Given the description of an element on the screen output the (x, y) to click on. 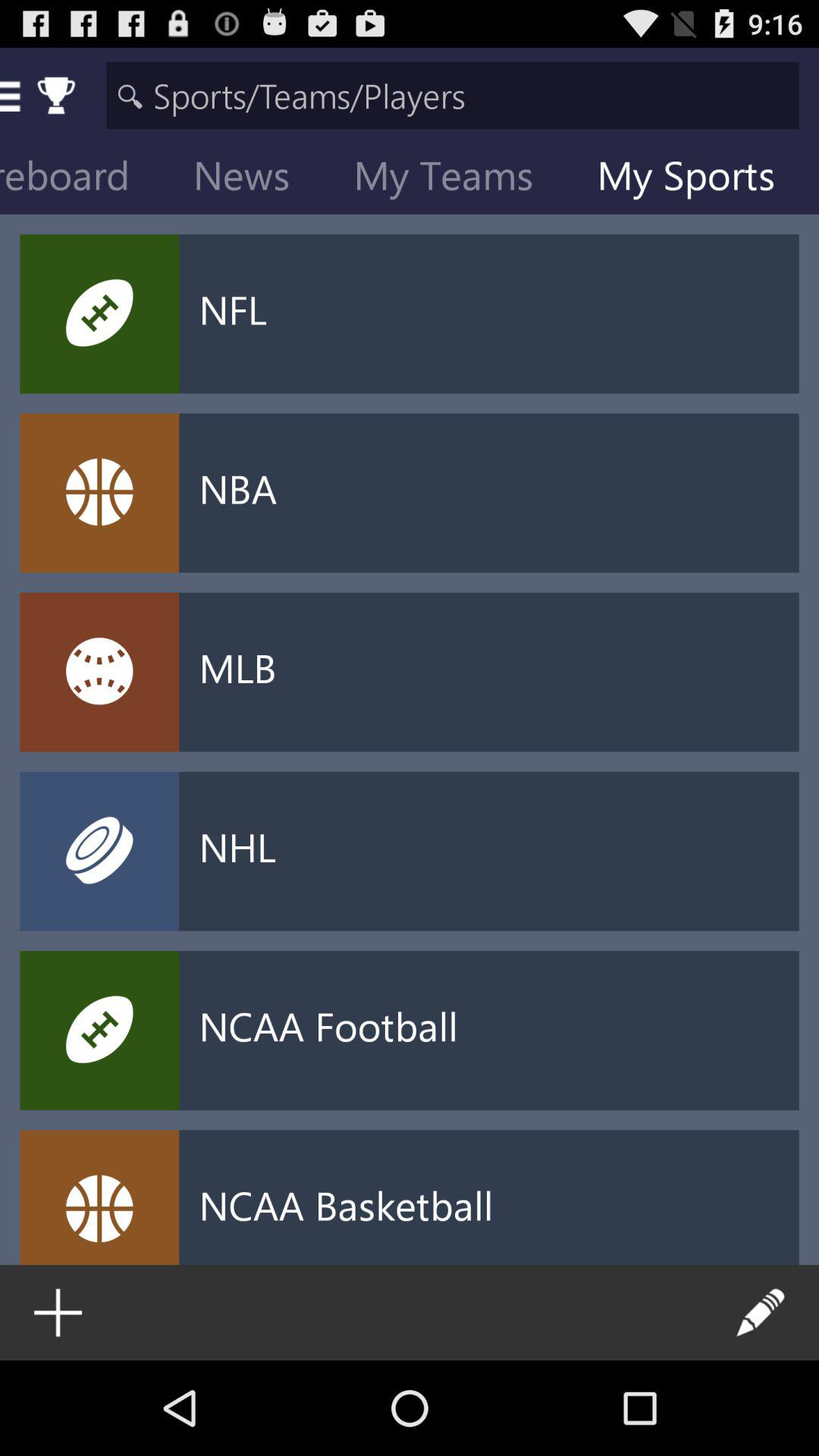
search the details (452, 95)
